Given the description of an element on the screen output the (x, y) to click on. 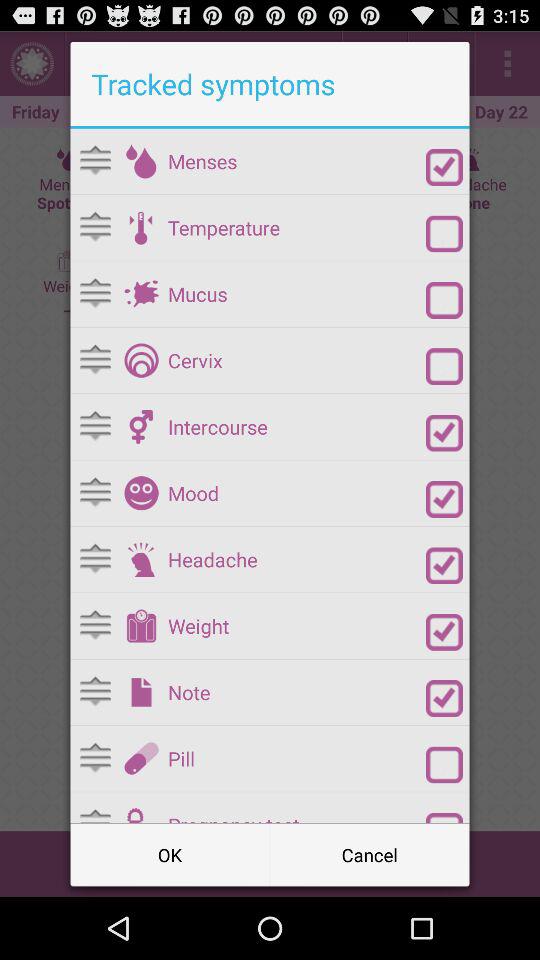
headache checkbox (444, 565)
